Given the description of an element on the screen output the (x, y) to click on. 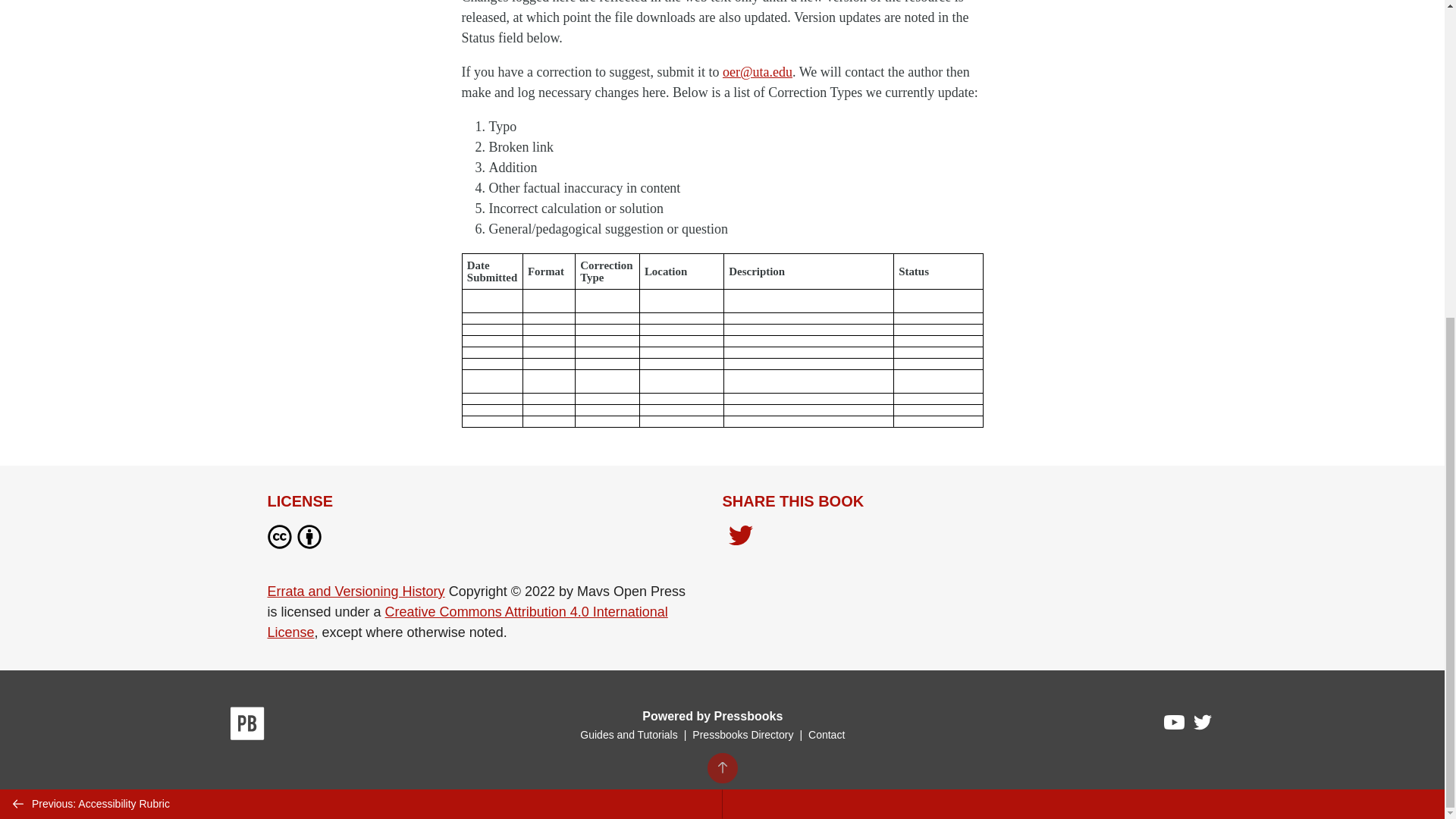
Contact (826, 734)
Share on Twitter (740, 539)
Powered by Pressbooks (712, 716)
Pressbooks (247, 726)
Creative Commons Attribution 4.0 International License (466, 621)
Guides and Tutorials (627, 734)
Errata and Versioning History (355, 590)
Pressbooks on YouTube (1174, 725)
Pressbooks Directory (742, 734)
Previous: Accessibility Rubric (361, 291)
Previous: Accessibility Rubric (361, 291)
BACK TO TOP (721, 255)
Share on Twitter (740, 536)
Pressbooks on Twitter (1202, 725)
